Given the description of an element on the screen output the (x, y) to click on. 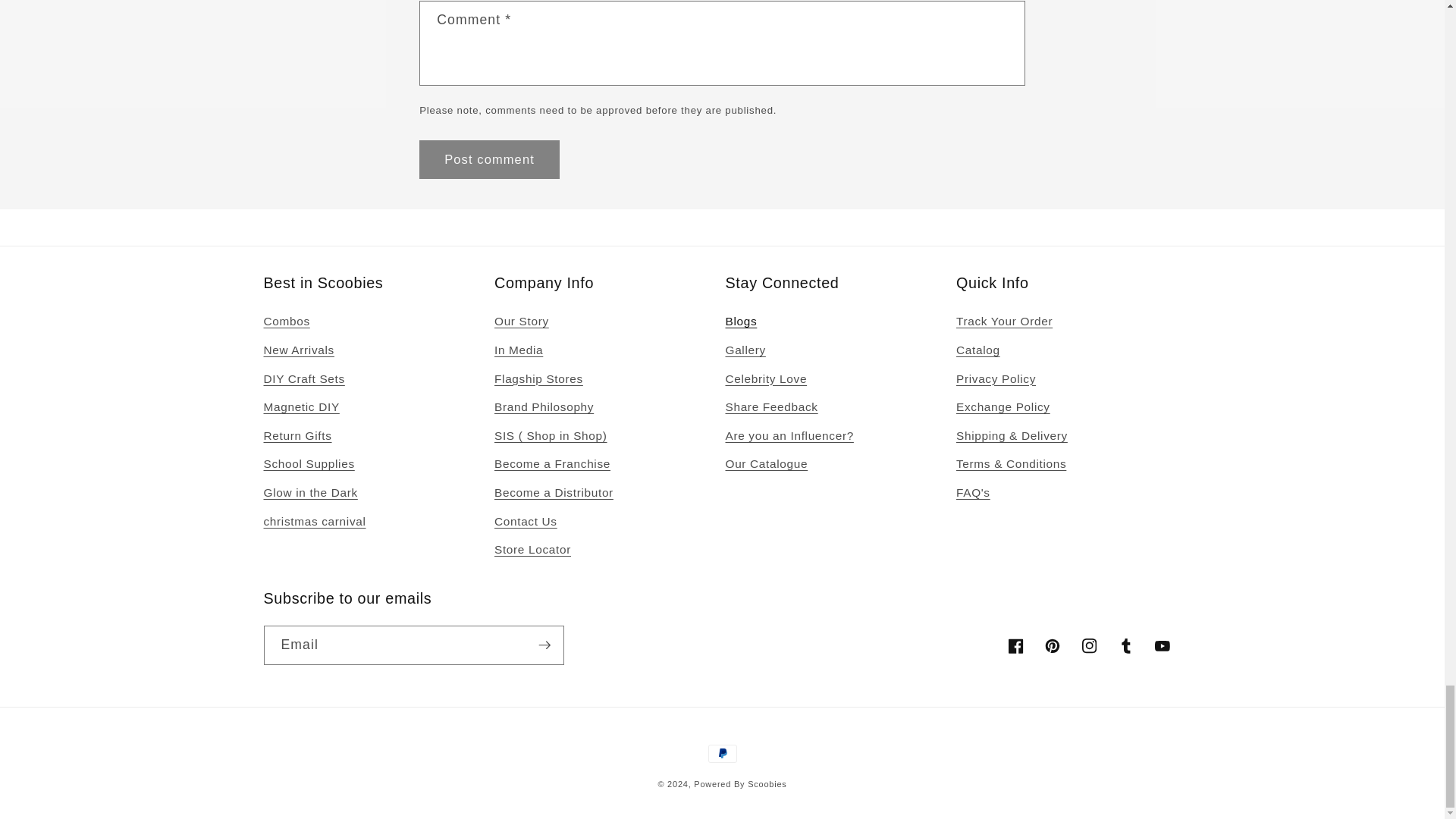
Post comment (489, 159)
